Given the description of an element on the screen output the (x, y) to click on. 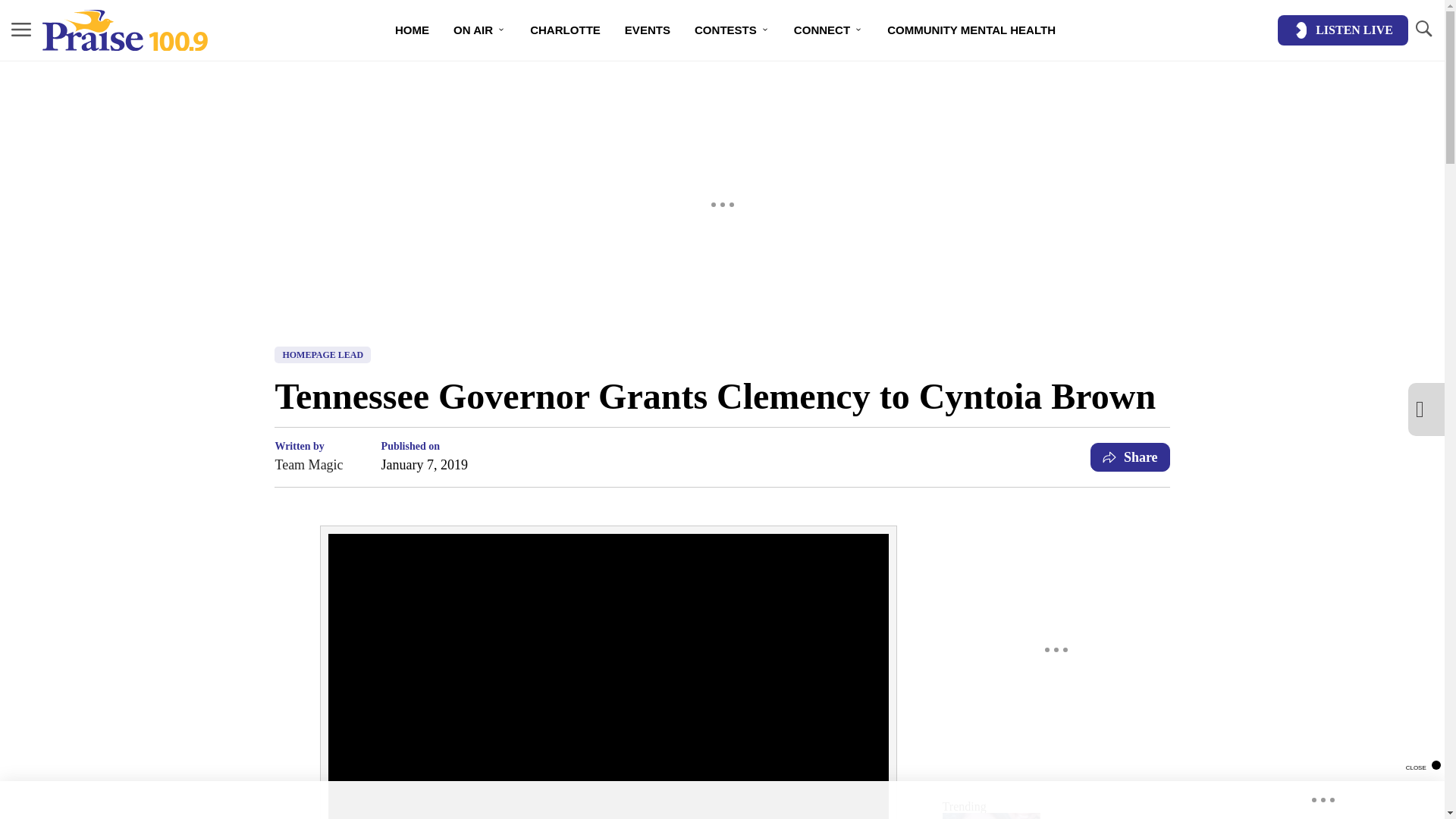
TOGGLE SEARCH (1422, 30)
EVENTS (647, 30)
CONNECT (828, 30)
CHARLOTTE (565, 30)
MENU (20, 29)
ON AIR (479, 30)
COMMUNITY MENTAL HEALTH (971, 30)
Share (1130, 457)
CONTESTS (731, 30)
LISTEN LIVE (1342, 30)
MENU (20, 30)
Team Magic (308, 464)
HOMEPAGE LEAD (323, 354)
TOGGLE SEARCH (1422, 28)
HOME (411, 30)
